Given the description of an element on the screen output the (x, y) to click on. 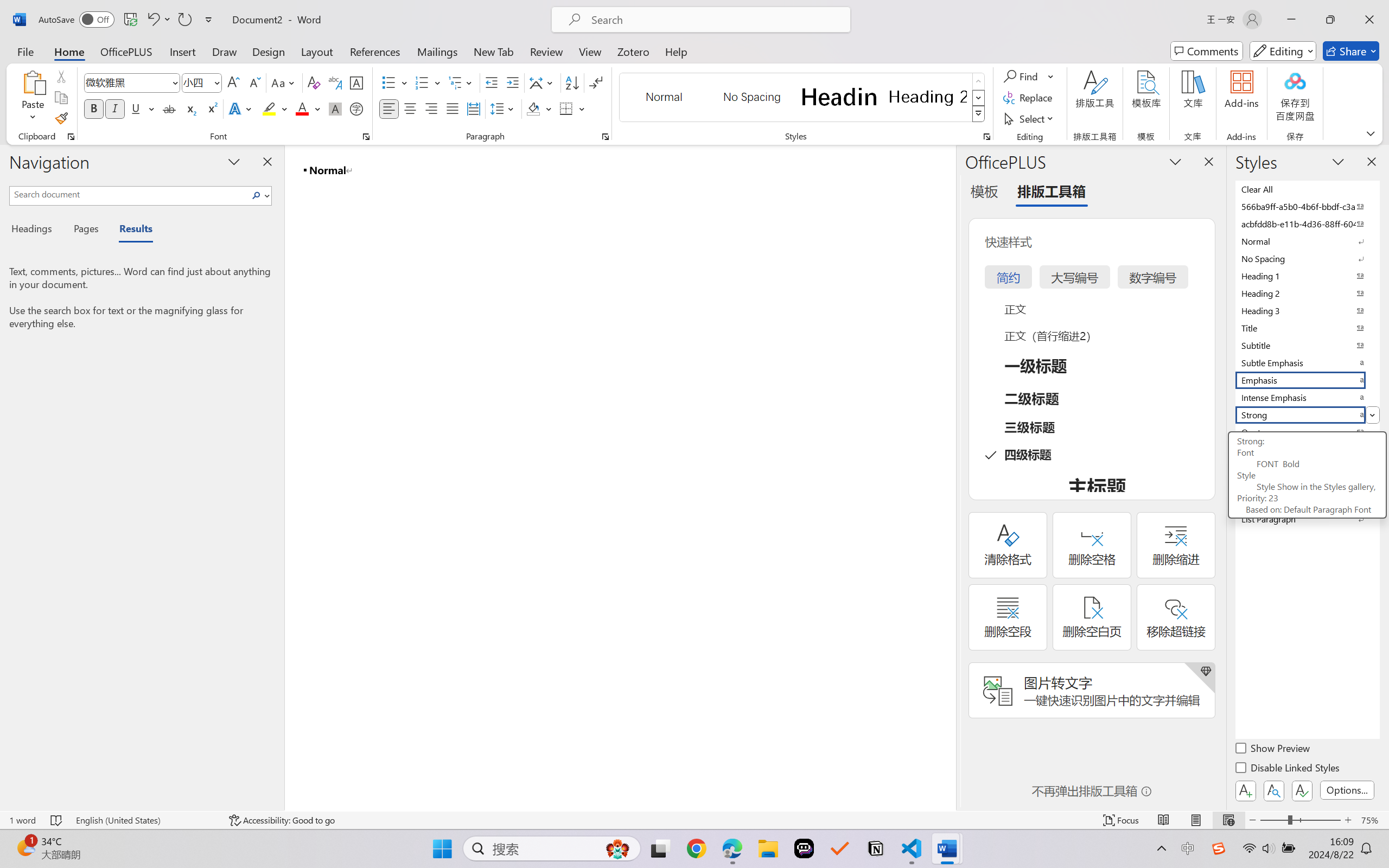
Review (546, 51)
Center (409, 108)
Cut (60, 75)
Strong (1306, 414)
Search document (128, 193)
Emphasis (1306, 379)
Heading 2 (927, 96)
Borders (566, 108)
566ba9ff-a5b0-4b6f-bbdf-c3ab41993fc2 (1306, 206)
AutomationID: QuickStylesGallery (802, 97)
Show Preview (1273, 749)
Numbering (421, 82)
